Given the description of an element on the screen output the (x, y) to click on. 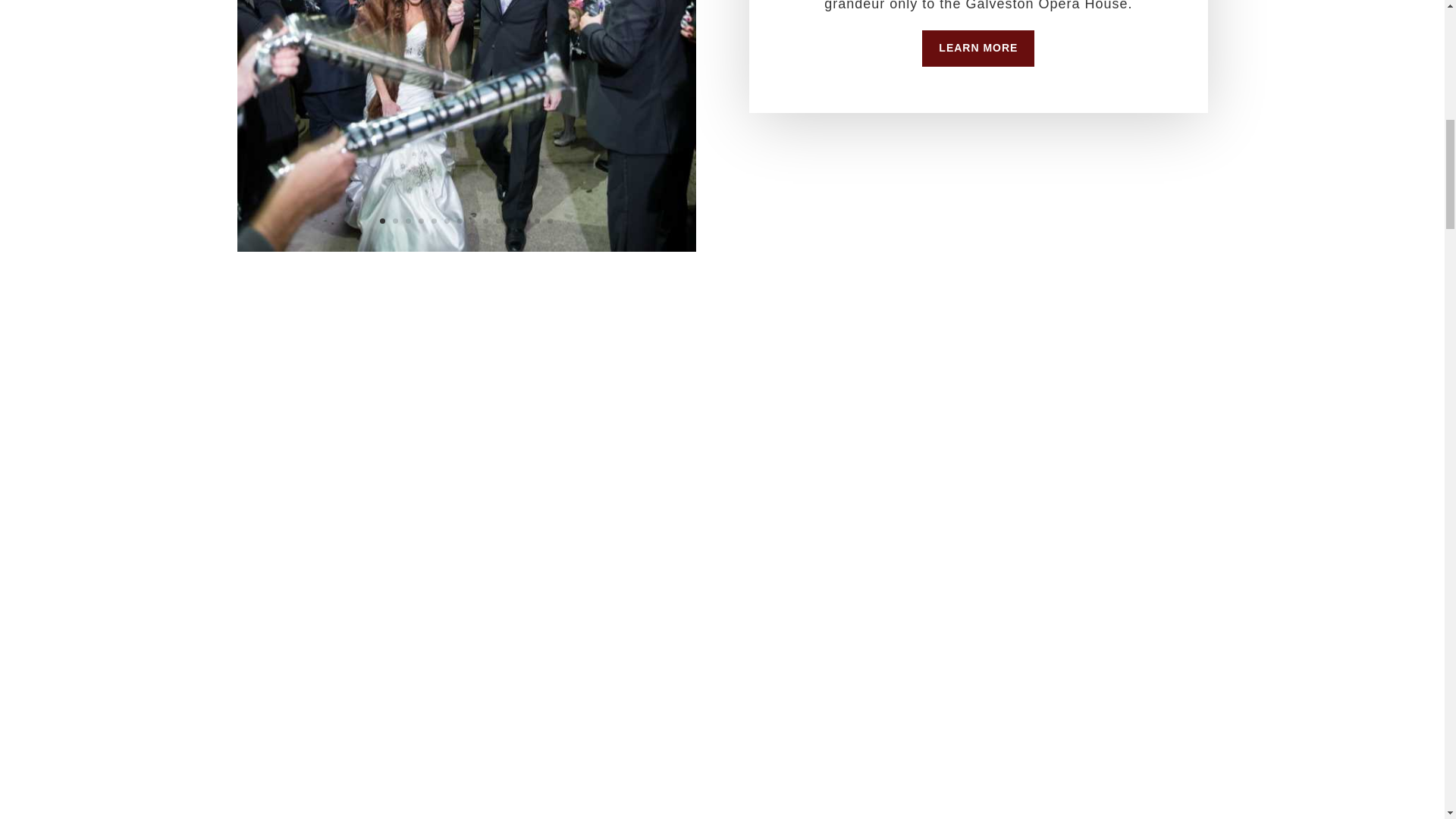
Photography by Rebel With A Camera (465, 247)
